Given the description of an element on the screen output the (x, y) to click on. 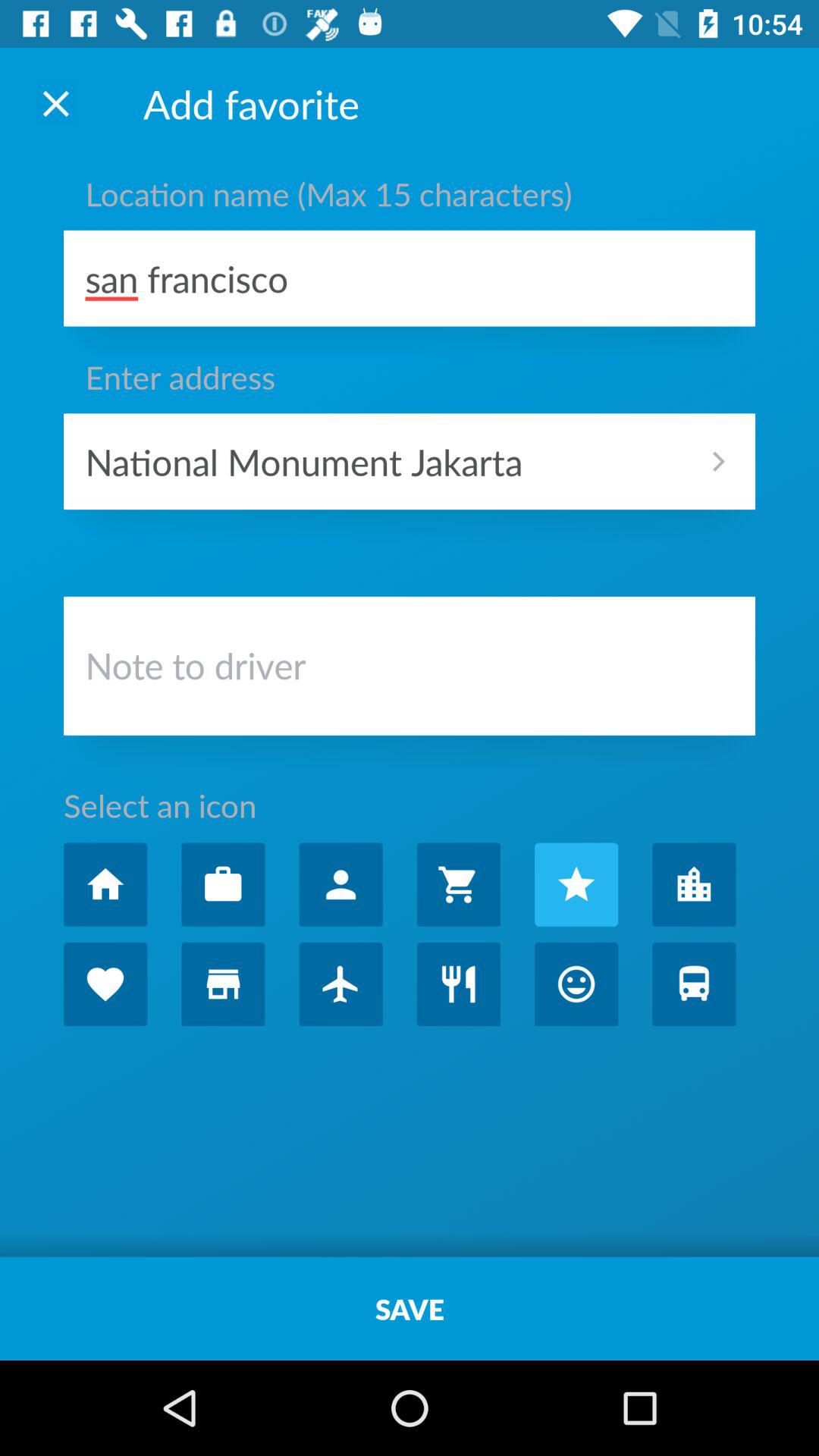
go to homepage (105, 884)
